Given the description of an element on the screen output the (x, y) to click on. 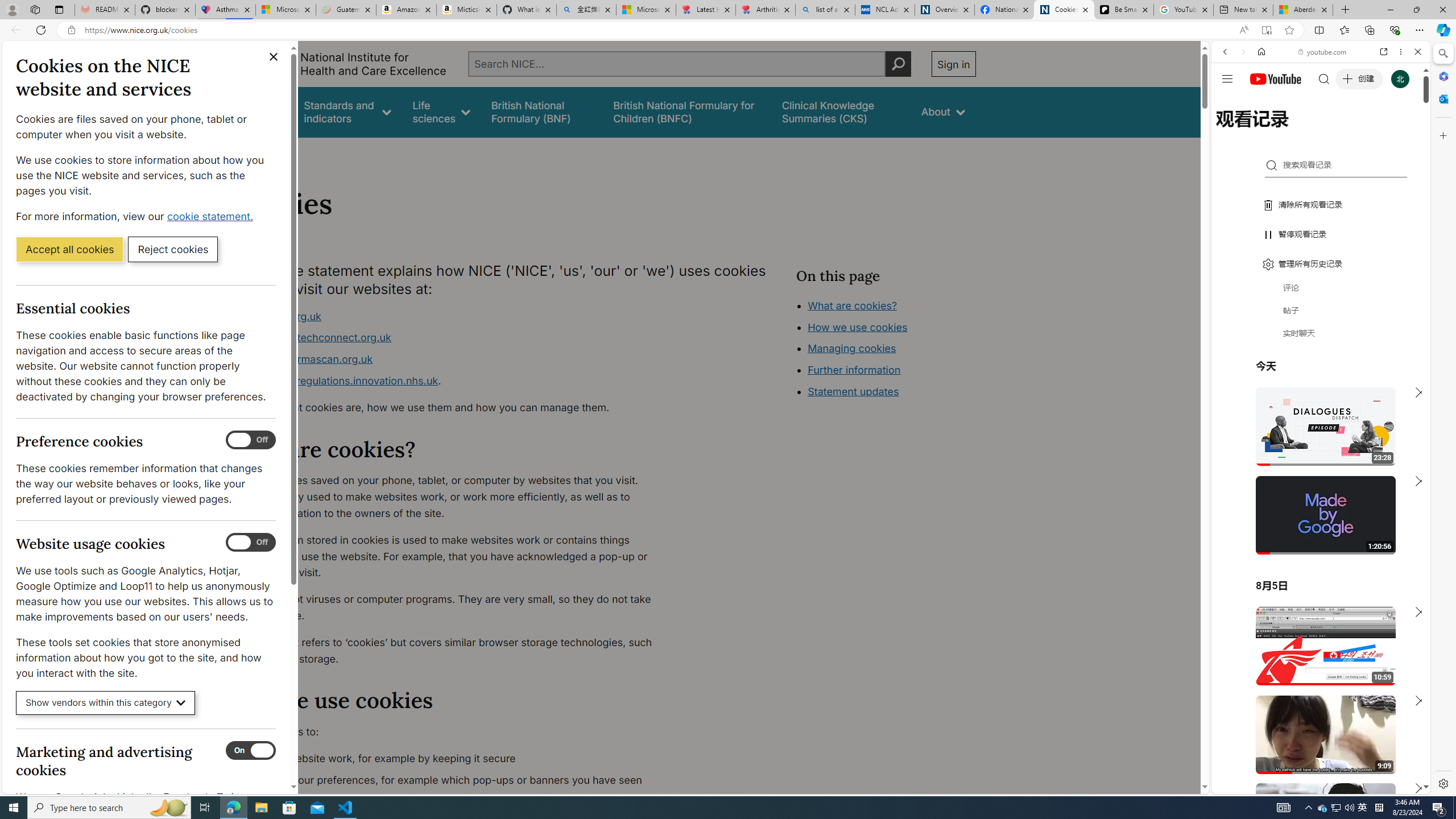
NCL Adult Asthma Inhaler Choice Guideline (885, 9)
Search Filter, Search Tools (1350, 129)
Click to scroll right (1407, 456)
Website usage cookies (250, 542)
SEARCH TOOLS (1350, 130)
Life sciences (440, 111)
How we use cookies (857, 327)
